Given the description of an element on the screen output the (x, y) to click on. 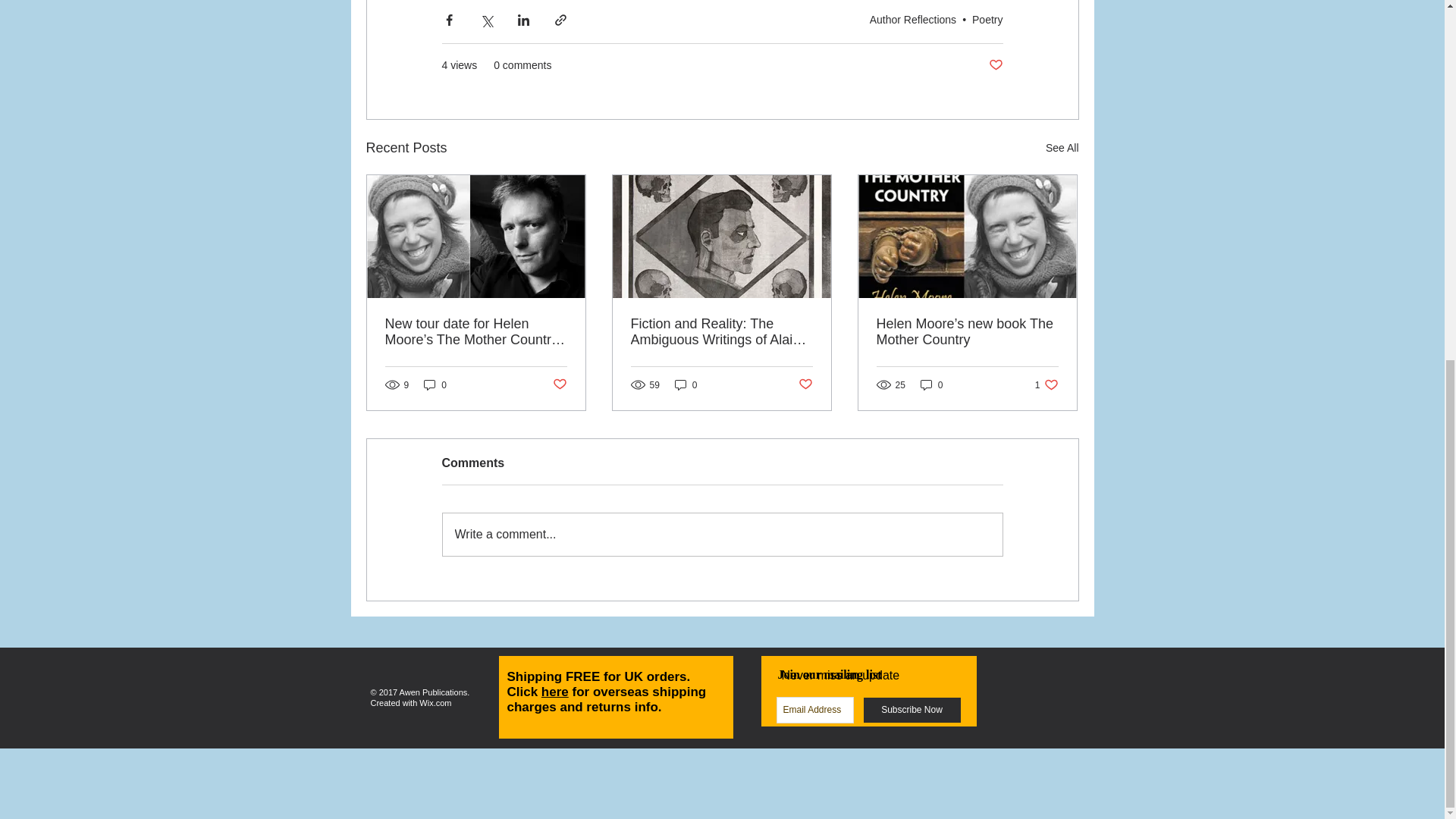
Author Reflections (912, 19)
See All (1061, 147)
Post not marked as liked (995, 65)
Poetry (987, 19)
